Given the description of an element on the screen output the (x, y) to click on. 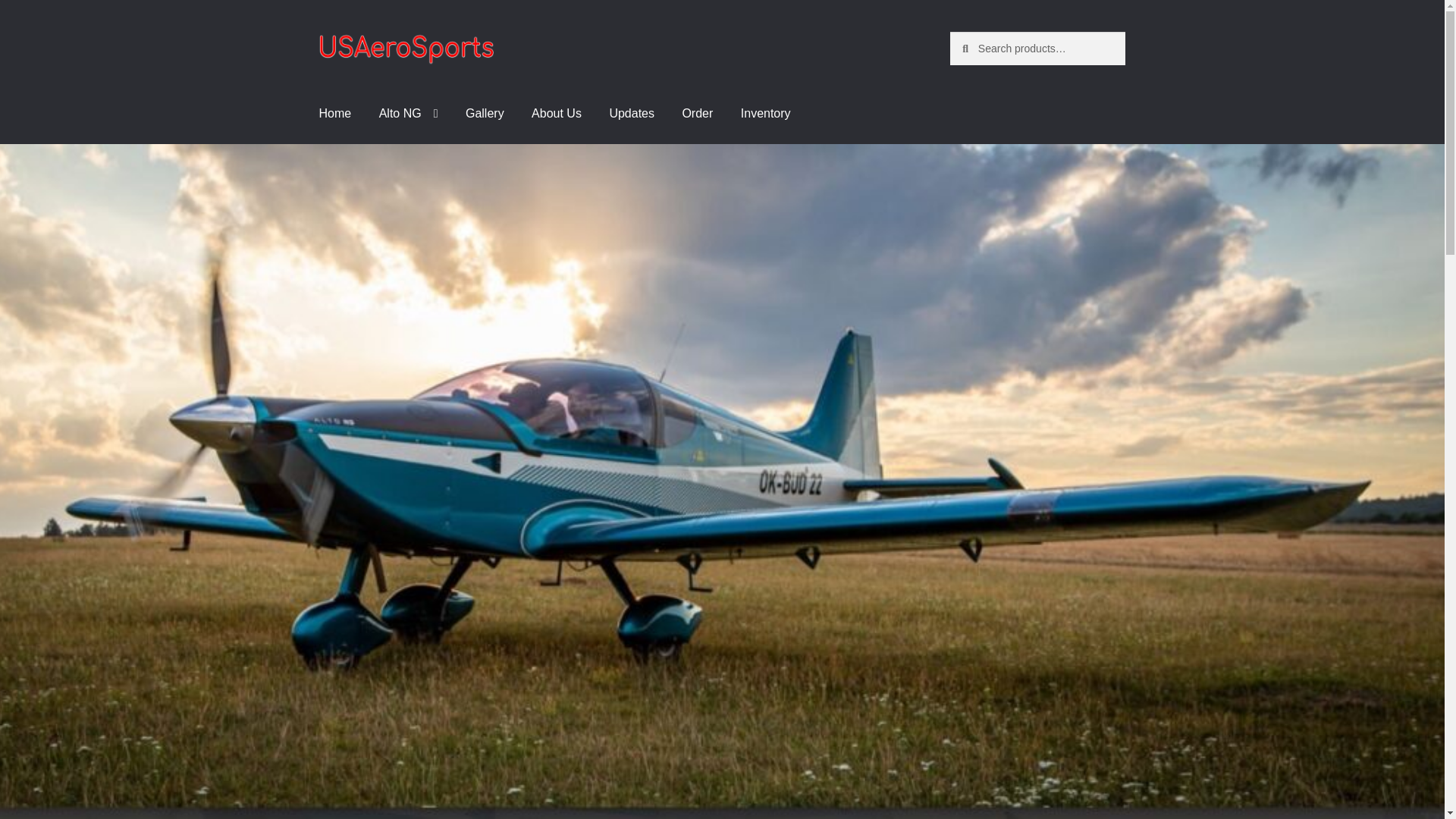
Gallery (484, 113)
Inventory (766, 113)
Alto NG (407, 113)
Updates (631, 113)
Order (697, 113)
About Us (556, 113)
Home (335, 113)
